Given the description of an element on the screen output the (x, y) to click on. 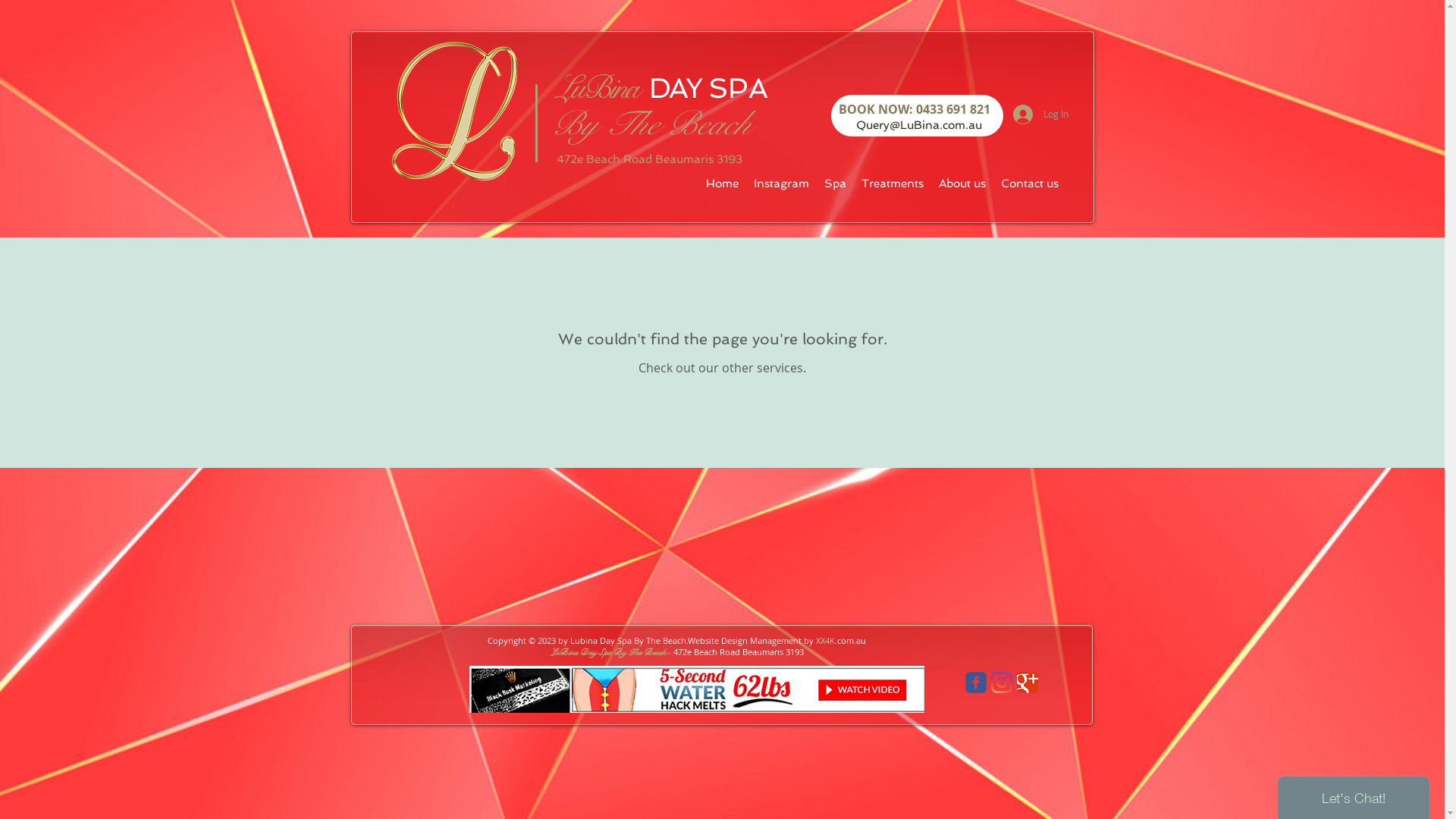
Query@LuBina.com.au Element type: text (918, 124)
Instagram Element type: text (781, 183)
Contact us Element type: text (1029, 183)
Home Element type: text (721, 183)
LuBina  DAY SPA Element type: text (659, 87)
Log In Element type: text (1040, 114)
About us Element type: text (962, 183)
Treatments Element type: text (892, 183)
Spa Element type: text (834, 183)
